Given the description of an element on the screen output the (x, y) to click on. 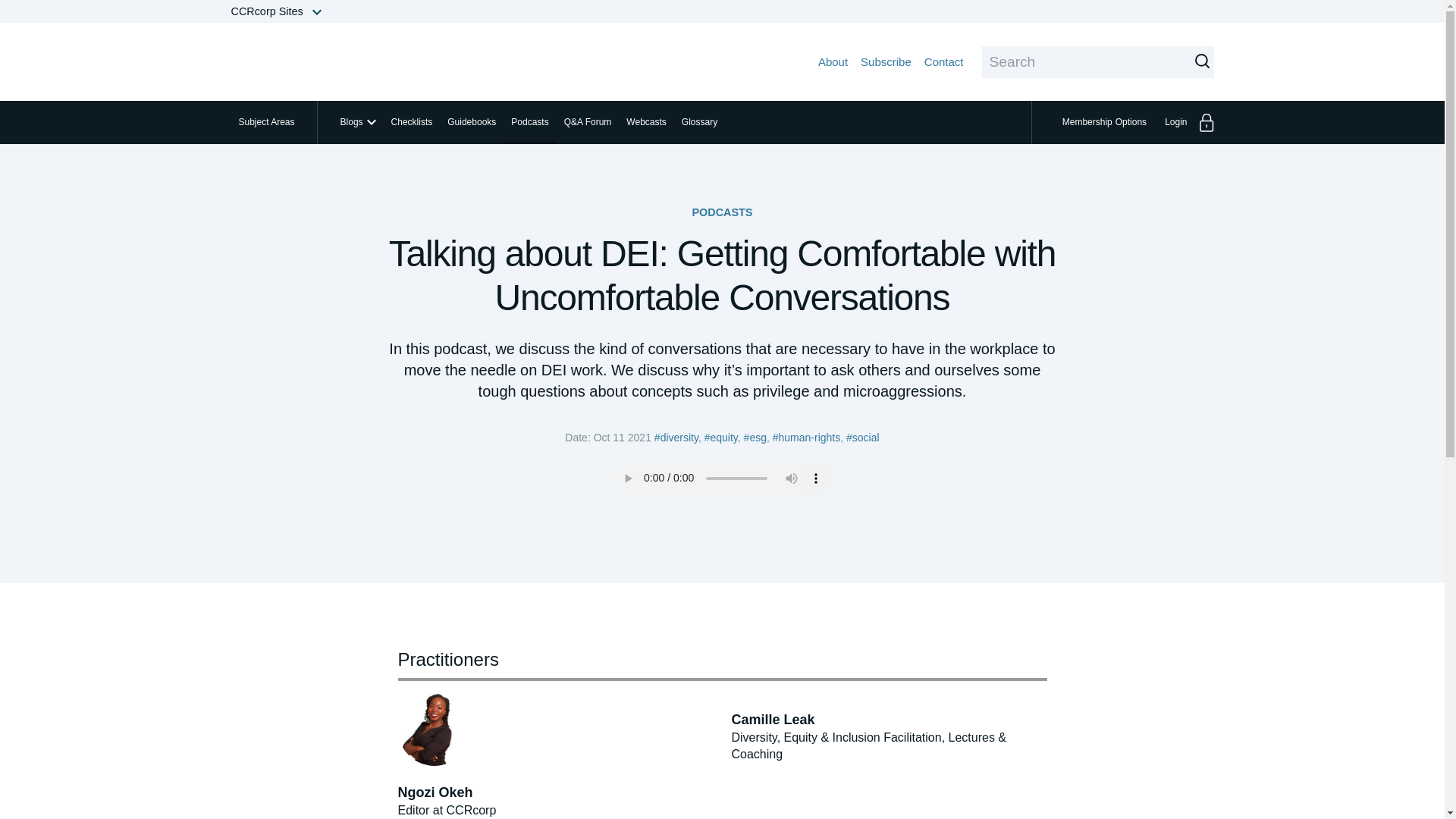
Login (1184, 122)
Subject Areas (265, 122)
Guidebooks (471, 122)
PracticalESG (347, 60)
About (832, 61)
Webcasts (645, 122)
Subscribe (885, 61)
PODCASTS (1105, 122)
Glossary (721, 212)
